Given the description of an element on the screen output the (x, y) to click on. 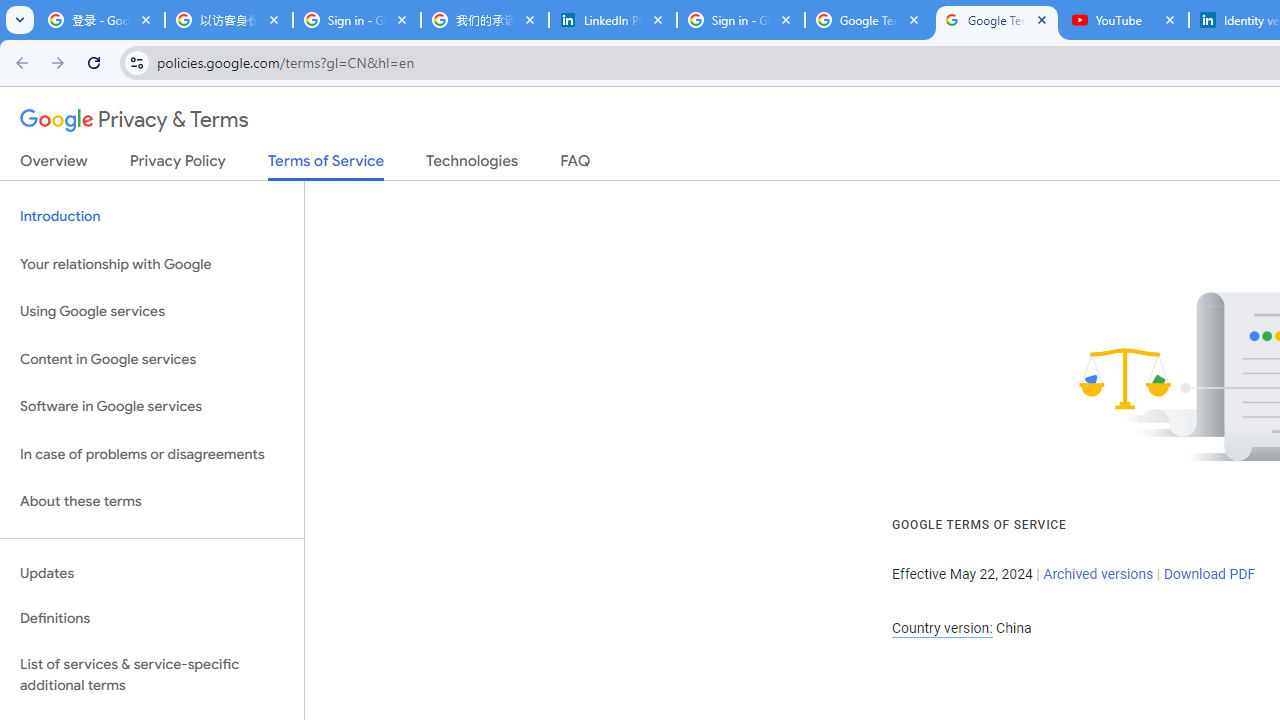
Sign in - Google Accounts (741, 20)
Your relationship with Google (152, 263)
